Given the description of an element on the screen output the (x, y) to click on. 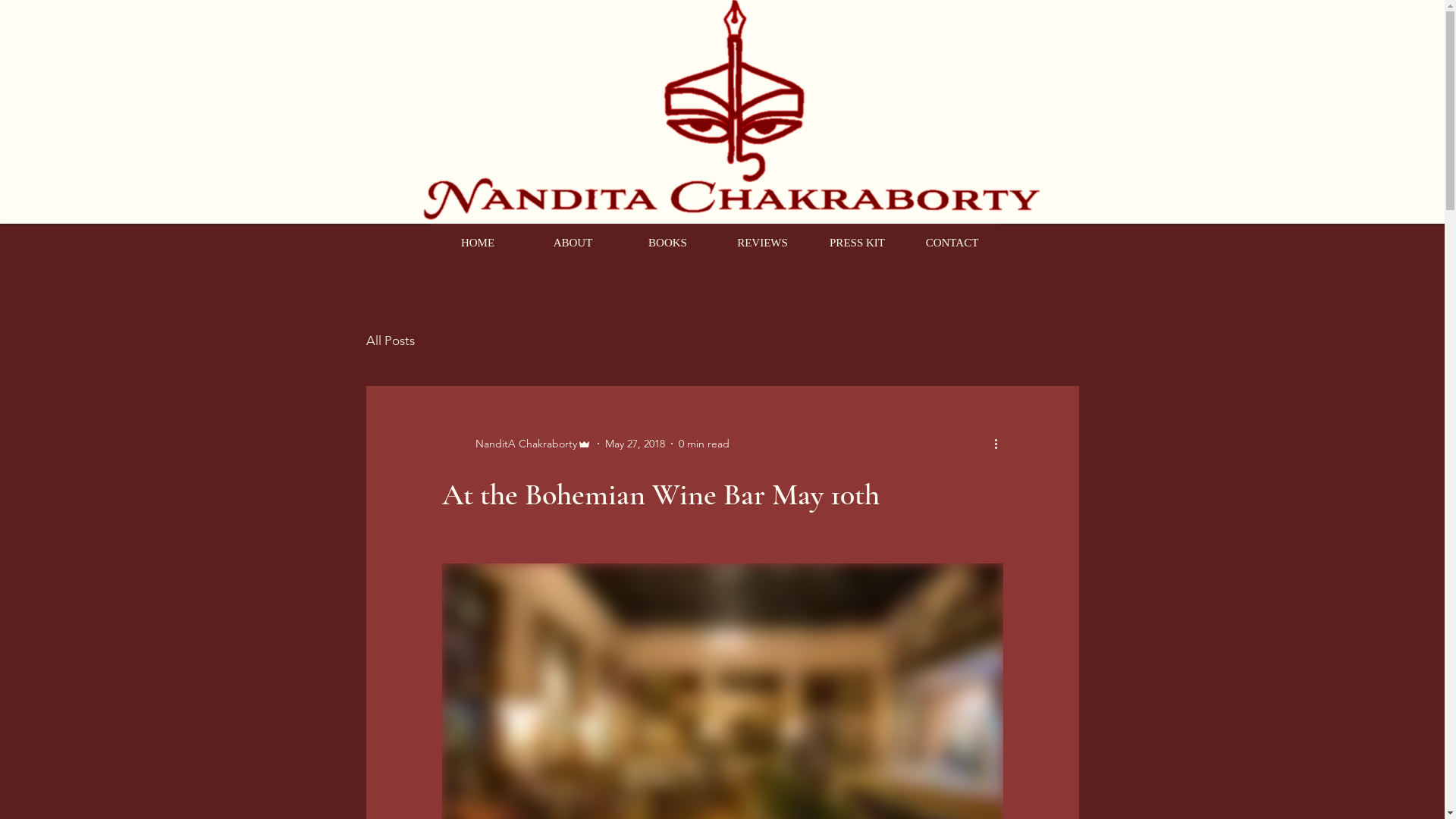
NanditA Chakraborty Element type: text (515, 443)
BOOKS Element type: text (667, 242)
HOME Element type: text (477, 242)
CONTACT Element type: text (950, 242)
ABOUT Element type: text (571, 242)
REVIEWS Element type: text (761, 242)
All Posts Element type: text (389, 340)
PRESS KIT Element type: text (856, 242)
